Given the description of an element on the screen output the (x, y) to click on. 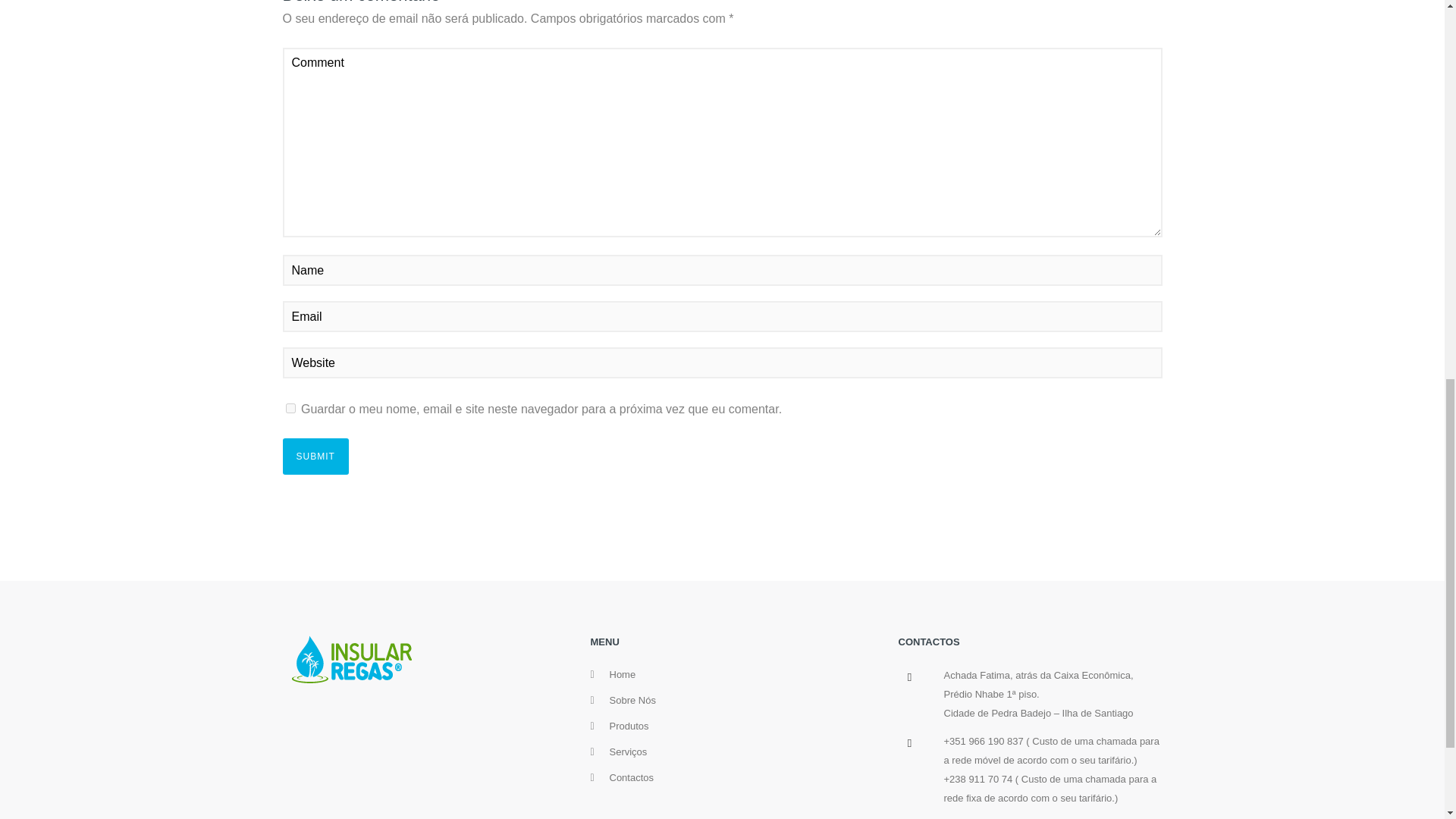
Produtos (629, 726)
Submit (314, 456)
yes (290, 408)
Home (623, 674)
Home (623, 674)
Contactos (631, 777)
Submit (314, 456)
